Given the description of an element on the screen output the (x, y) to click on. 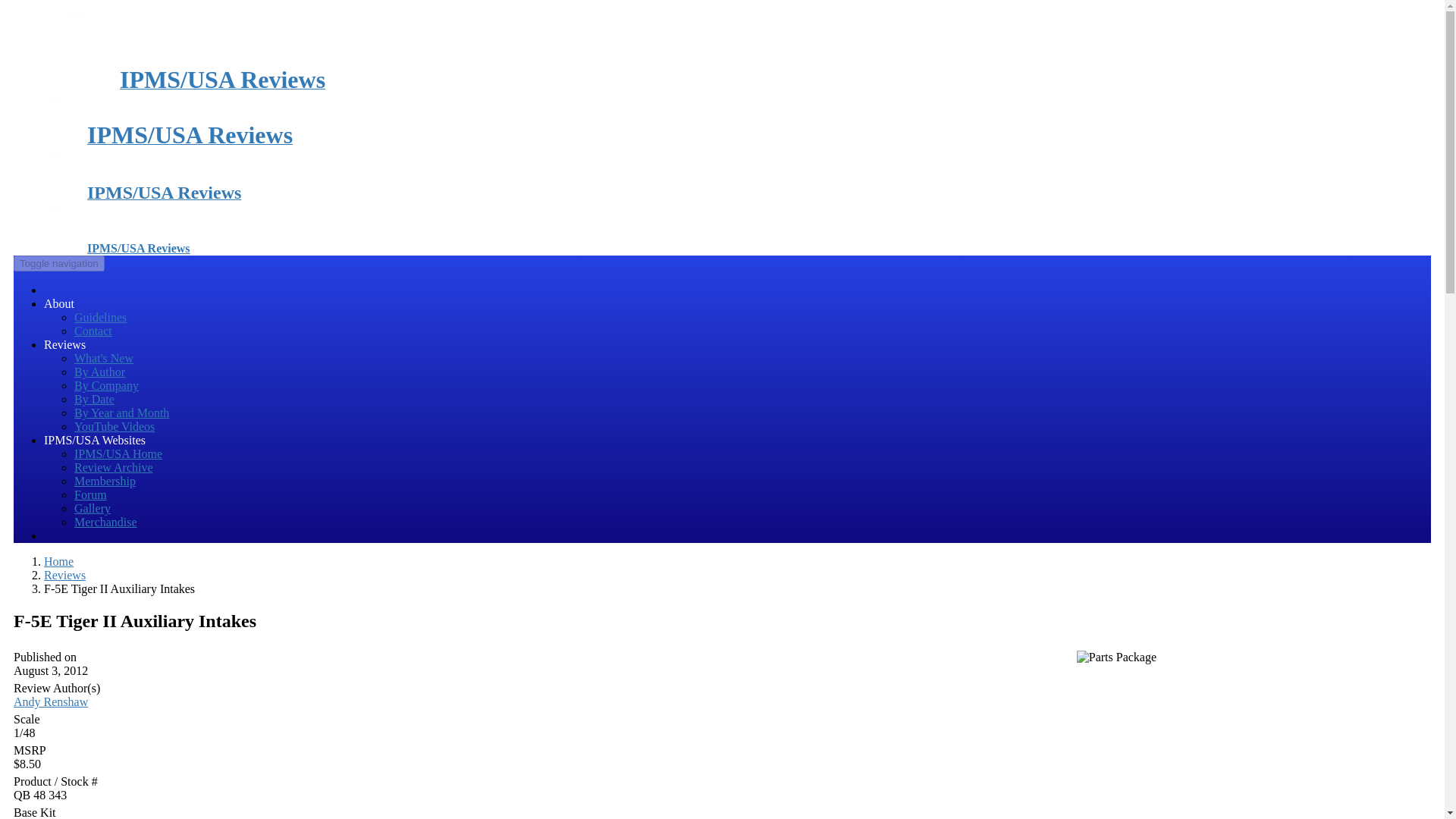
By Year and Month (121, 412)
By Author (99, 371)
What's New (103, 358)
Archive of pre-2008 reviews. (113, 467)
Reviewers' Corps Membership and Product Review Guidelines (100, 317)
Merchandise (105, 521)
About (58, 303)
By Company (106, 385)
Reviews (64, 574)
Parts Package (1116, 657)
YouTube Videos (114, 426)
By Date (94, 399)
Membership (104, 481)
By Year and Month (121, 412)
Forum (90, 494)
